Given the description of an element on the screen output the (x, y) to click on. 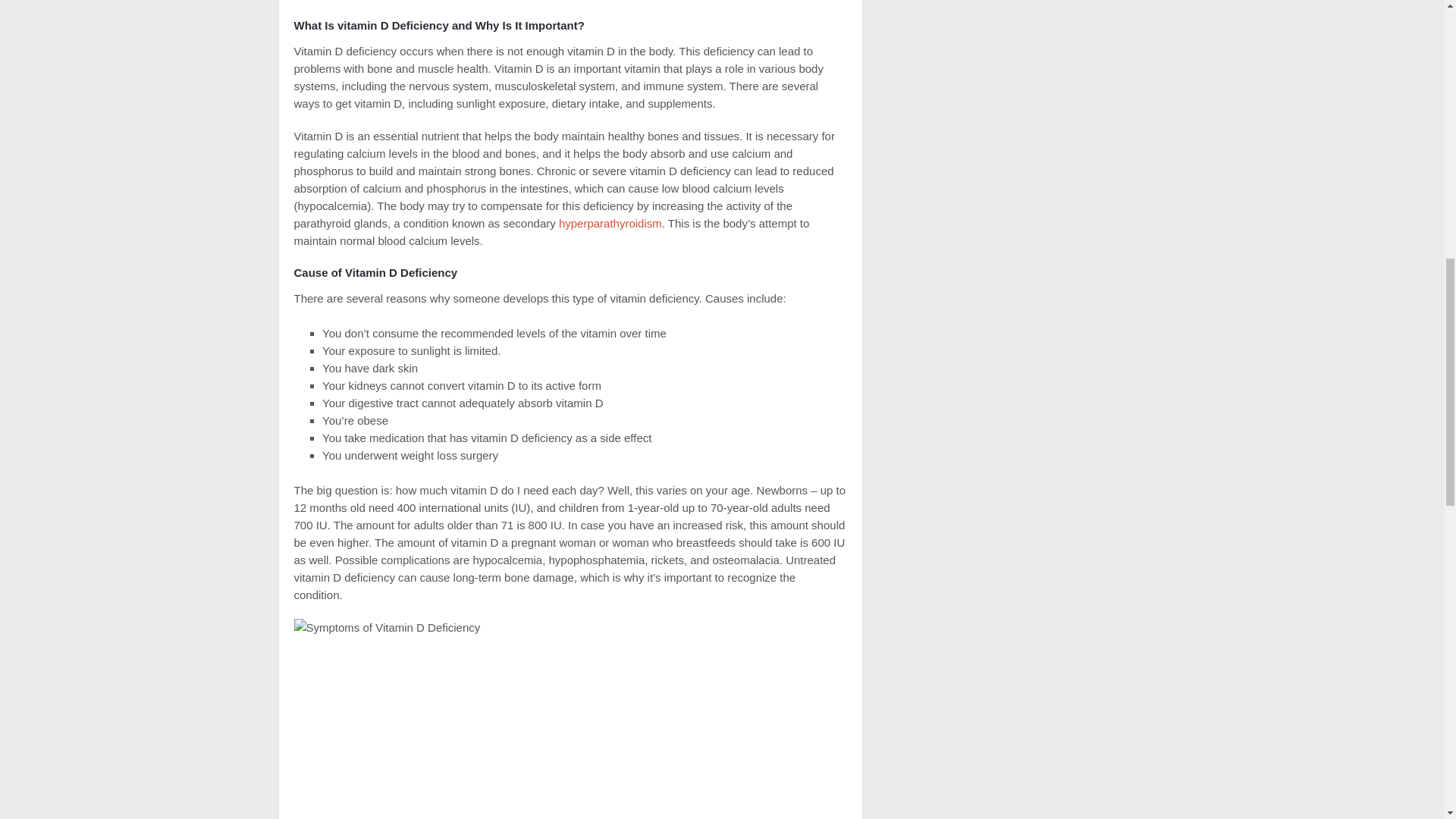
hyperparathyroidism (610, 223)
Vitamin D Deficiency Icons Daily Catchers (570, 719)
